Given the description of an element on the screen output the (x, y) to click on. 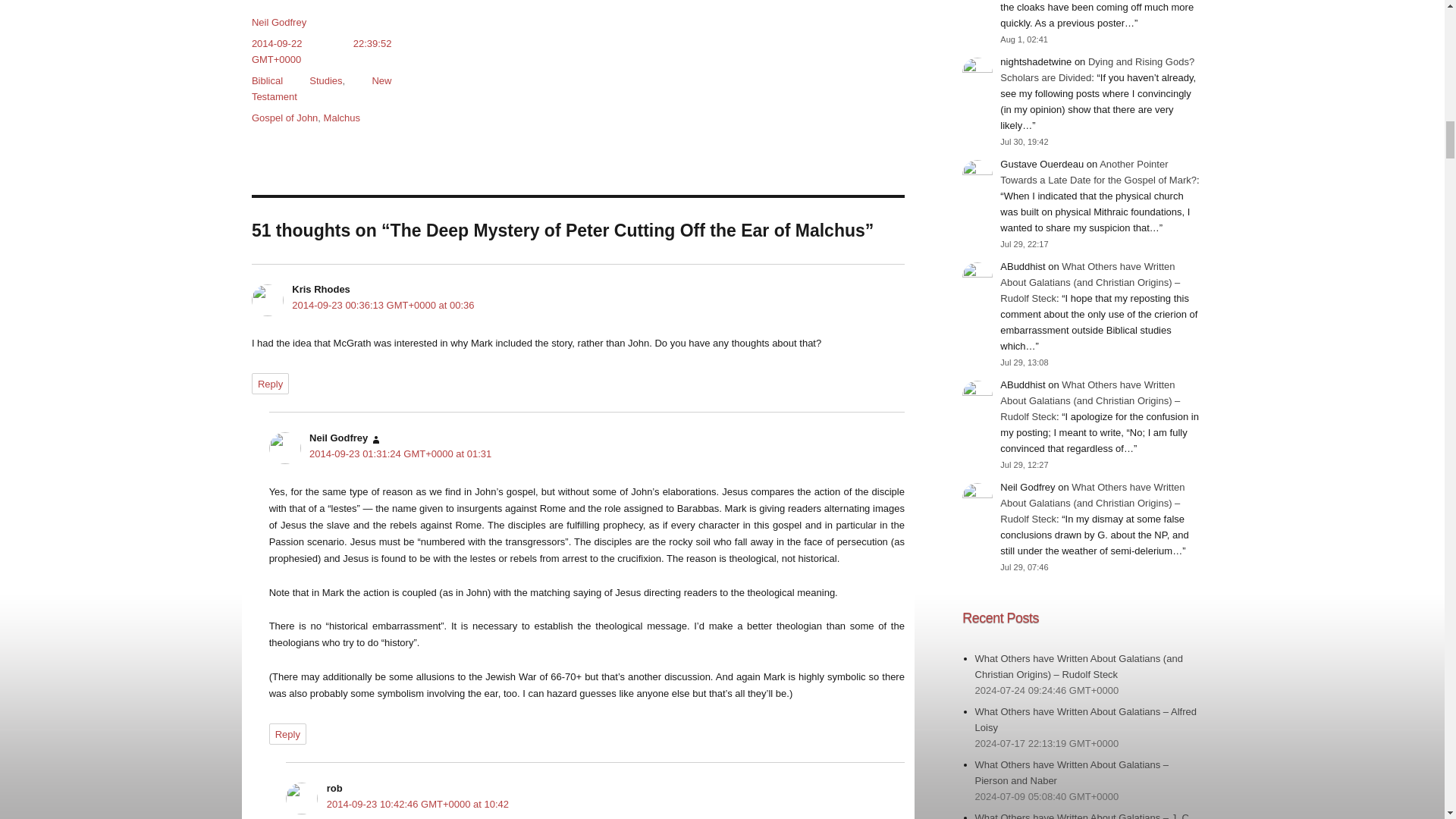
Malchus (341, 117)
Biblical Studies (296, 80)
New Testament (321, 88)
Gospel of John (284, 117)
Neil Godfrey (278, 21)
